Given the description of an element on the screen output the (x, y) to click on. 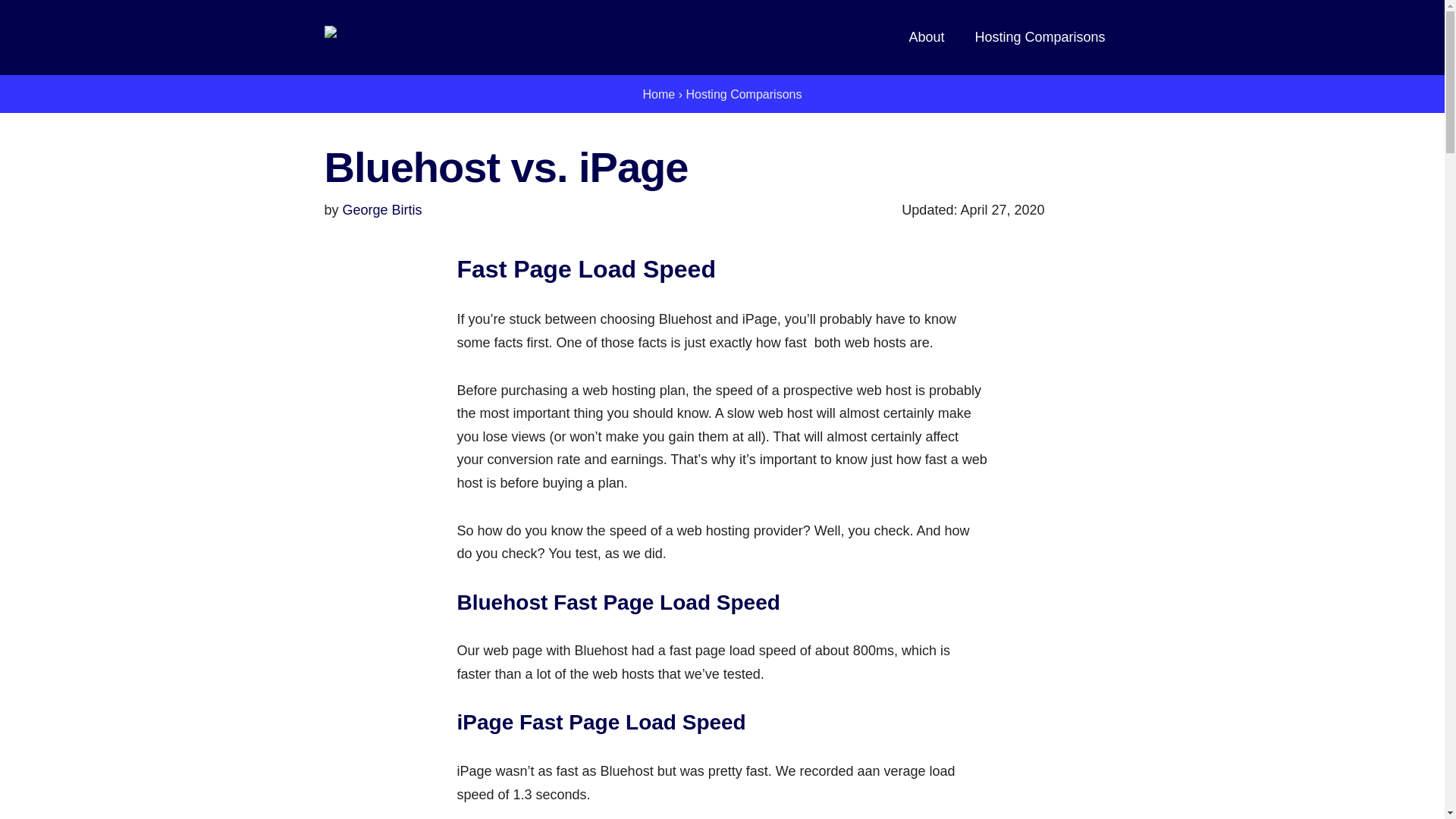
Home (659, 93)
About (925, 37)
George Birtis (382, 209)
Hosting Comparisons (1039, 37)
Hosting Comparisons (1039, 37)
Hosting Comparisons (743, 93)
PylonsHQ (360, 37)
About (925, 37)
